Given the description of an element on the screen output the (x, y) to click on. 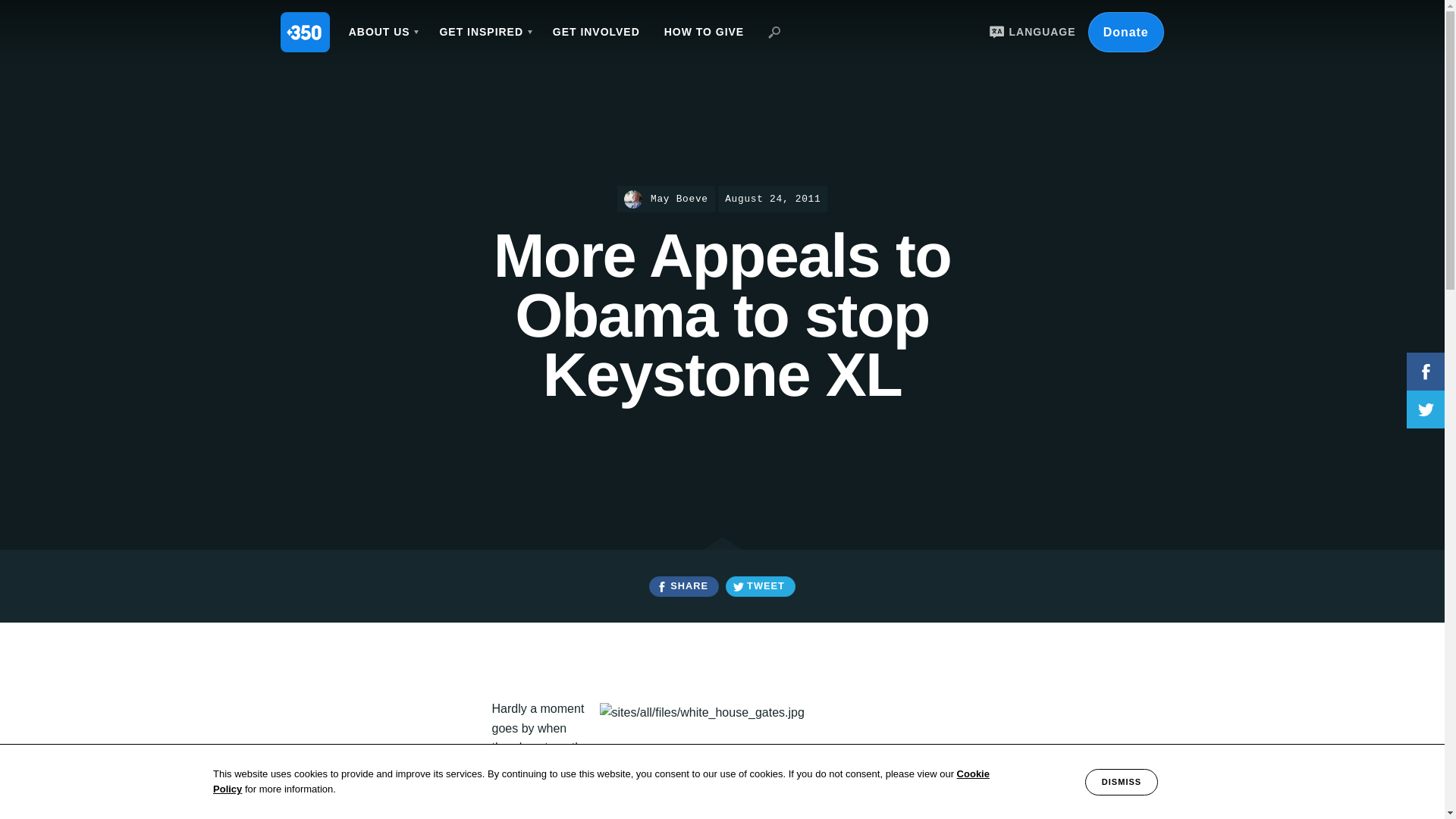
TWEET (759, 586)
SHARE (683, 586)
GET INSPIRED (483, 32)
Donate (1125, 32)
GET INVOLVED (596, 32)
ABOUT US (382, 32)
LANGUAGE (1029, 32)
350 (305, 32)
HOW TO GIVE (703, 32)
